Given the description of an element on the screen output the (x, y) to click on. 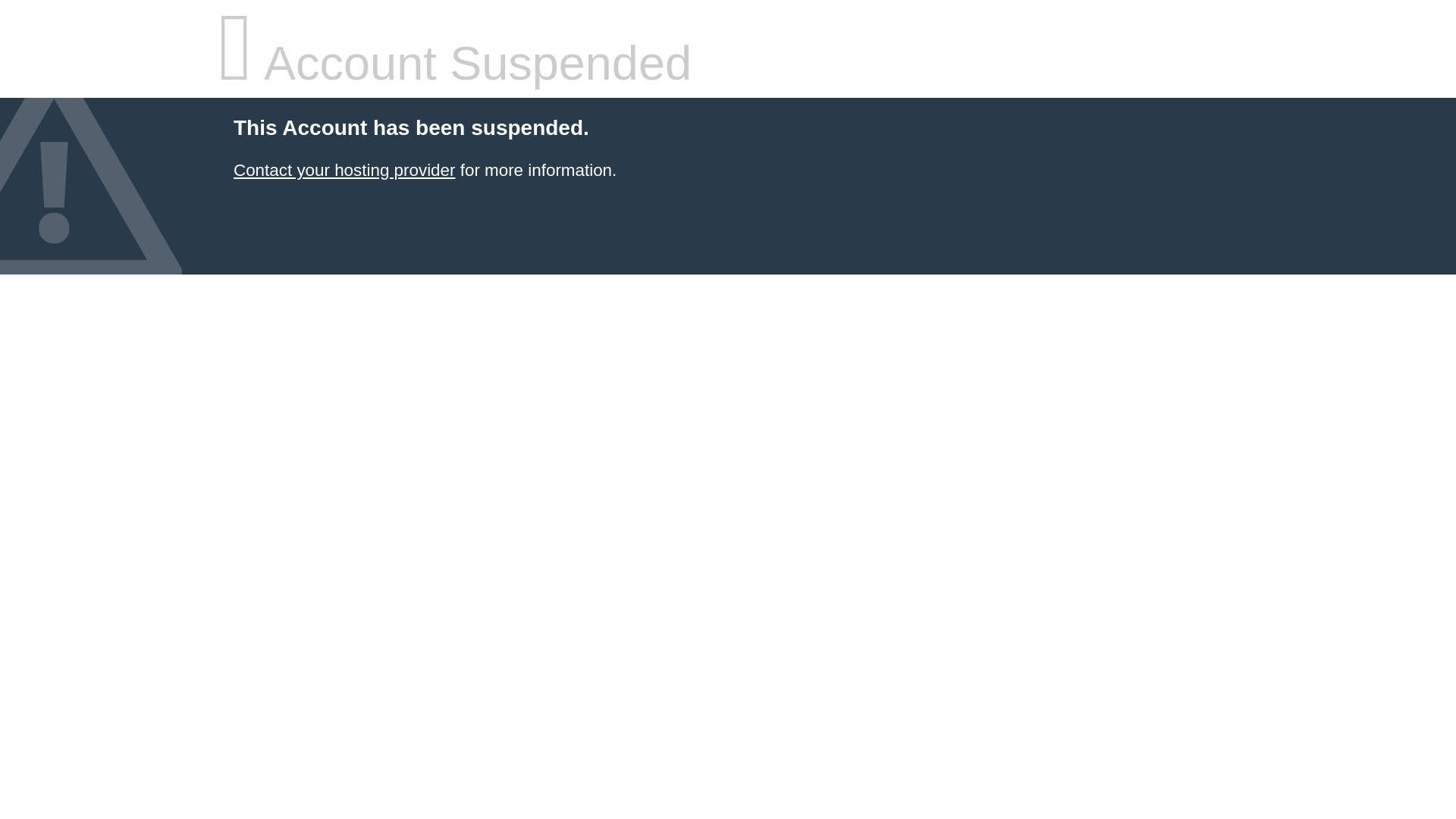
Contact your hosting provider (343, 169)
